Given the description of an element on the screen output the (x, y) to click on. 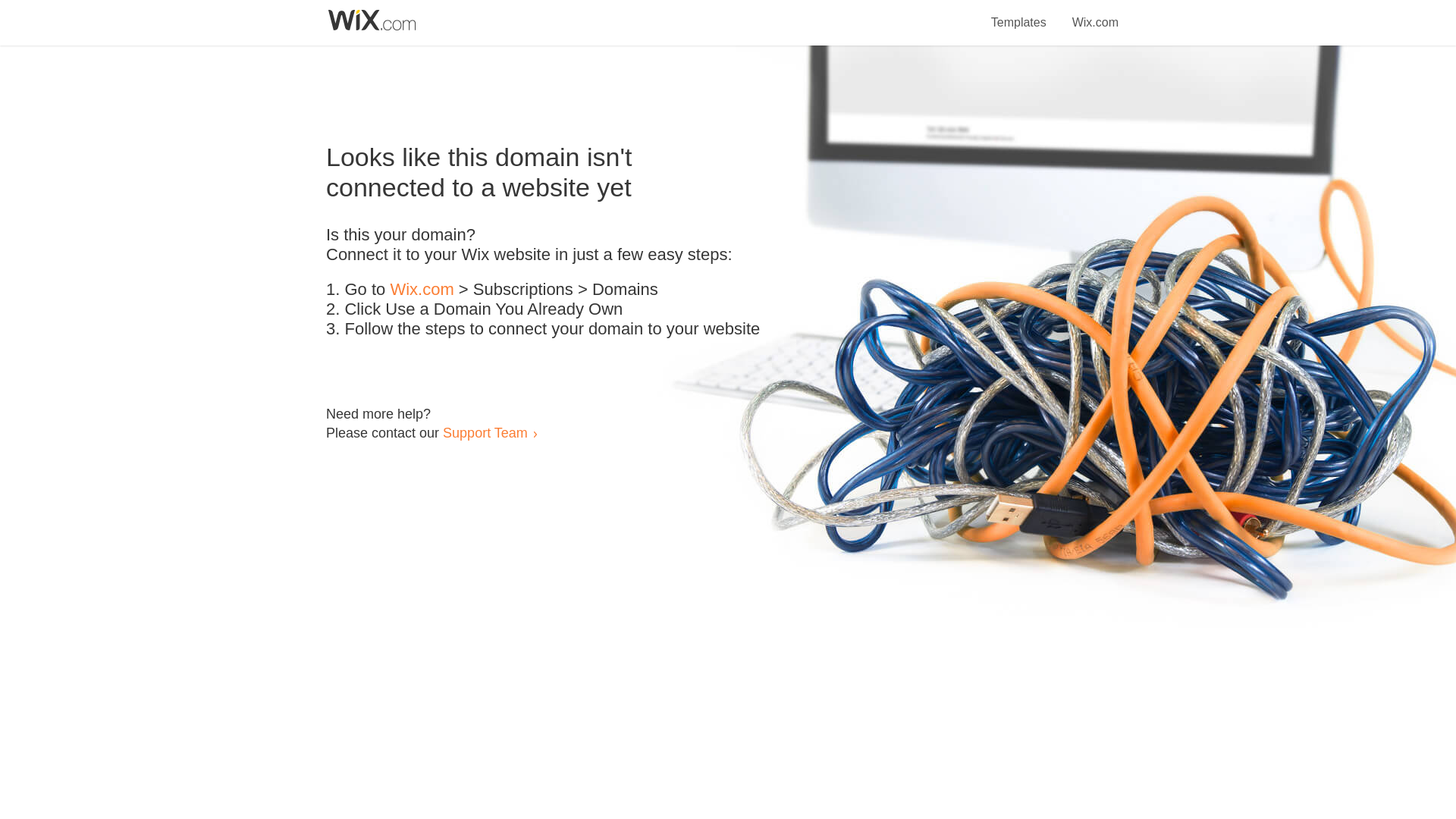
Wix.com (421, 289)
Wix.com (1095, 14)
Support Team (484, 432)
Templates (1018, 14)
